Given the description of an element on the screen output the (x, y) to click on. 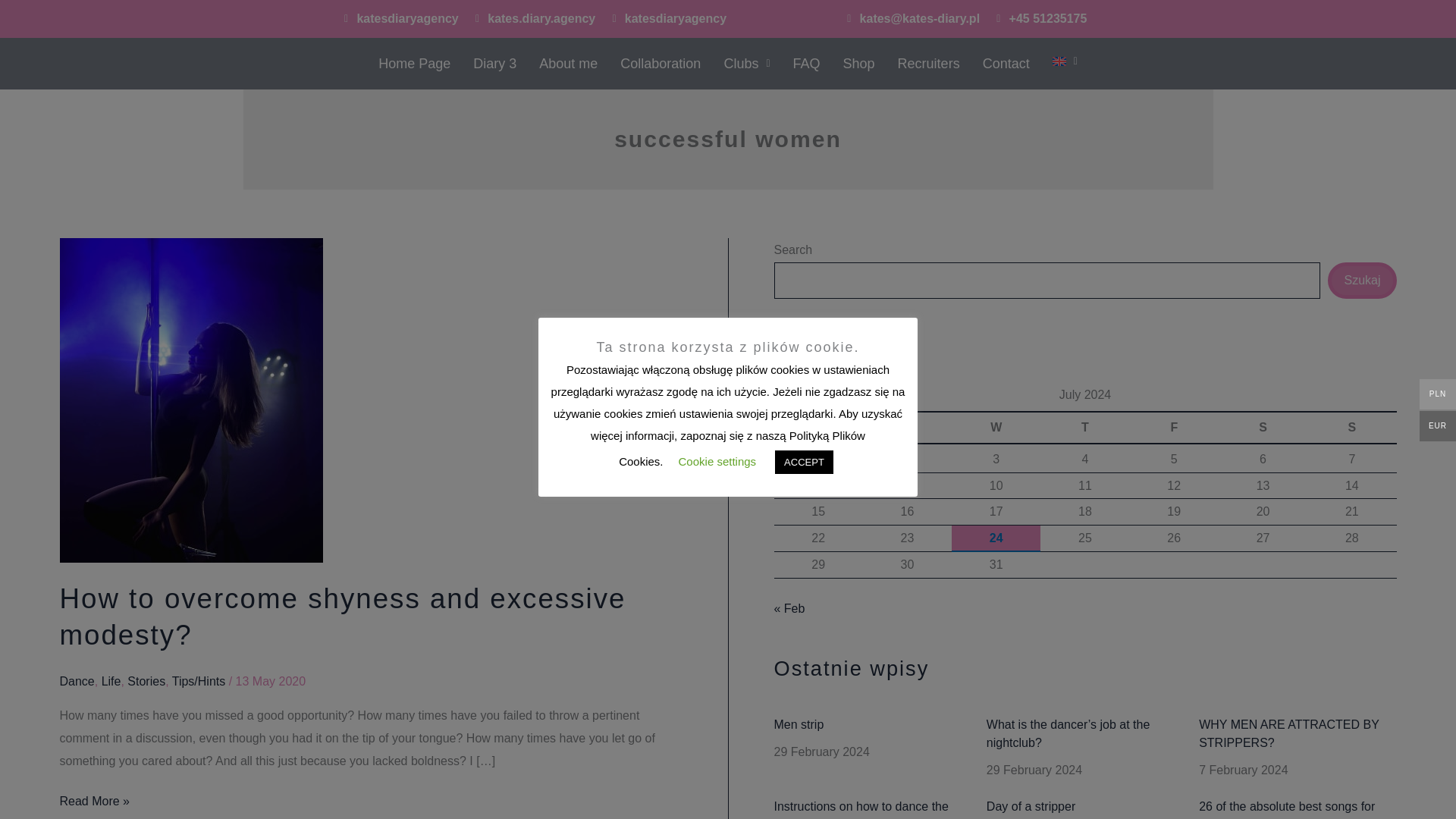
Wednesday (996, 427)
Home Page (413, 63)
katesdiaryagency (398, 18)
Diary 3 (494, 63)
Saturday (1262, 427)
Friday (1173, 427)
About me (567, 63)
Sklep (858, 63)
Tuesday (907, 427)
Collaboration (659, 63)
Thursday (1085, 427)
Kontakt (1006, 63)
Monday (817, 427)
Clubs (745, 63)
O mnie (567, 63)
